Given the description of an element on the screen output the (x, y) to click on. 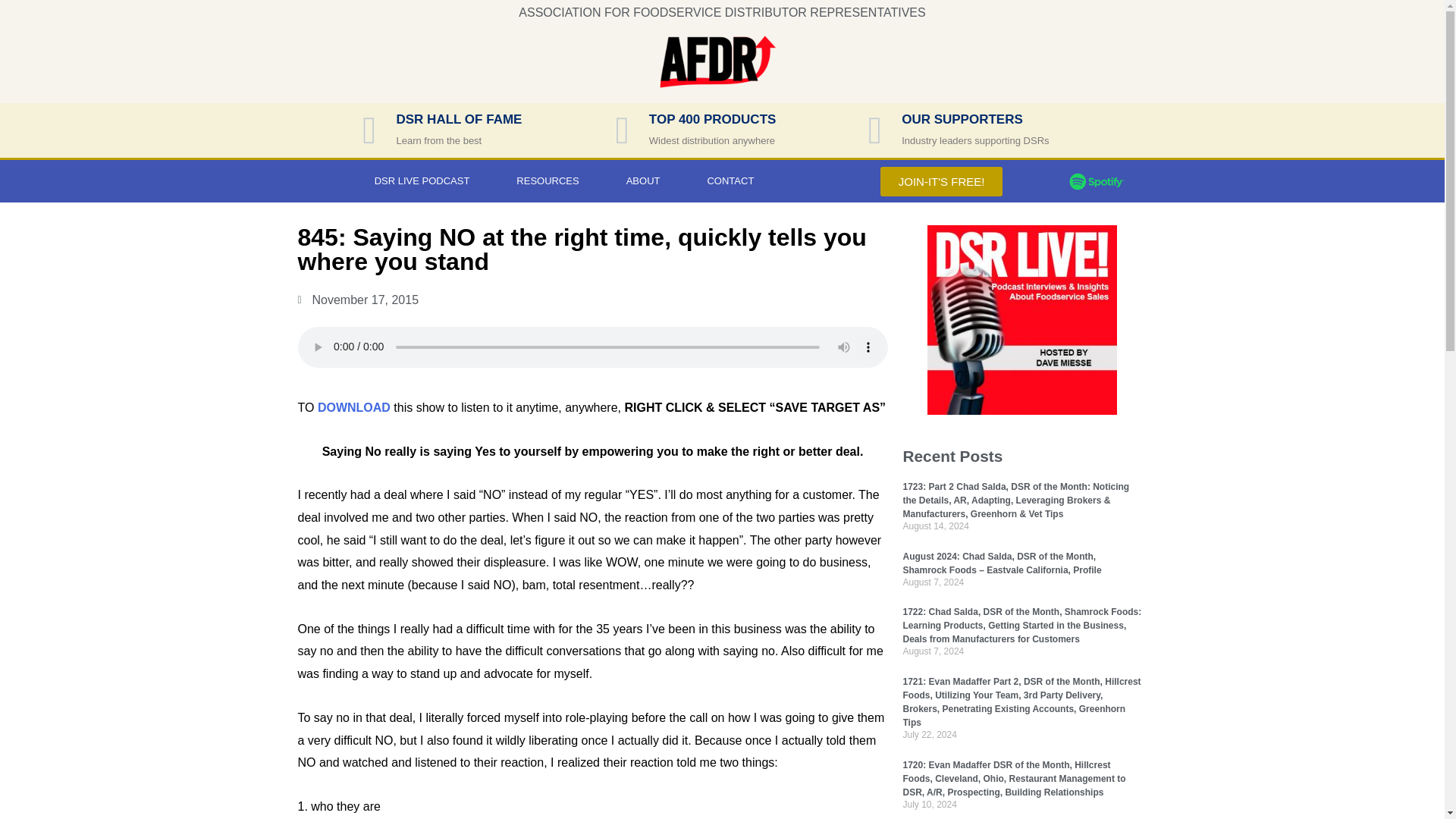
DSR HALL OF FAME (458, 119)
OUR SUPPORTERS (962, 119)
November 17, 2015 (358, 300)
TOP 400 PRODUCTS (712, 119)
JOIN-IT'S FREE! (941, 181)
DOWNLOAD (353, 407)
RESOURCES (547, 180)
CONTACT (729, 180)
